Given the description of an element on the screen output the (x, y) to click on. 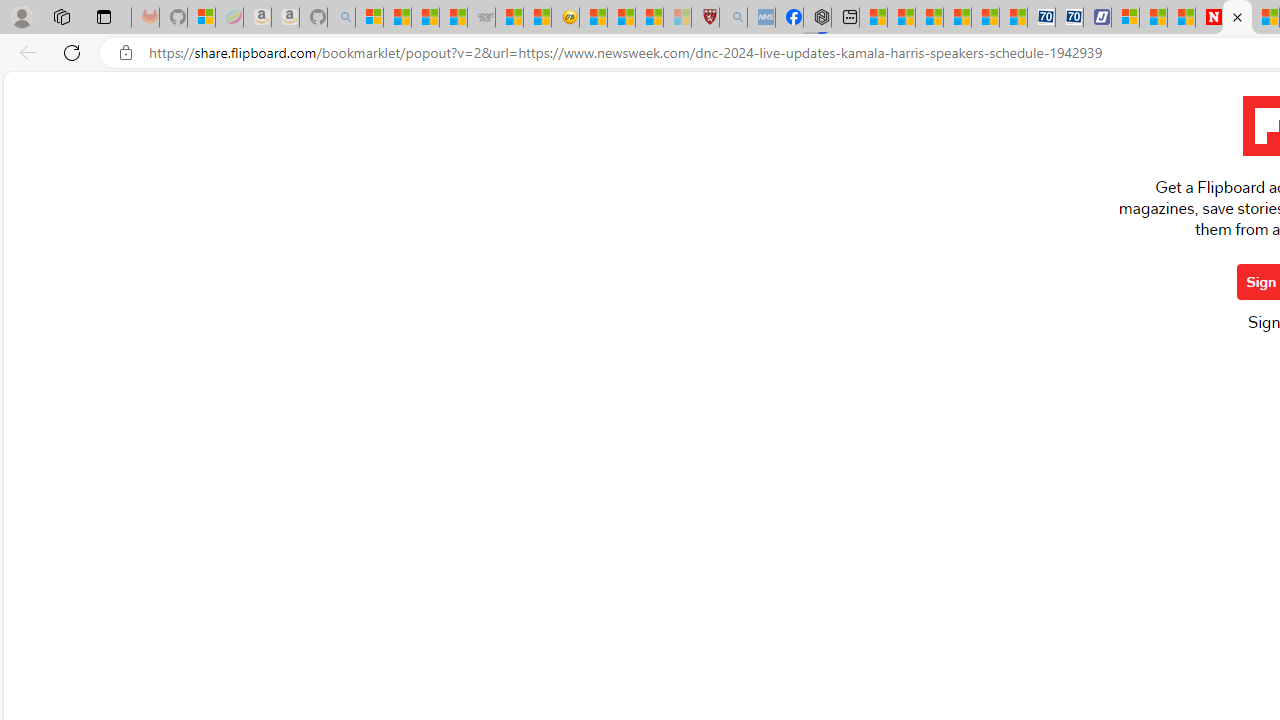
Nordace - Nordace Siena Is Not An Ordinary Backpack (816, 17)
list of asthma inhalers uk - Search - Sleeping (733, 17)
NCL Adult Asthma Inhaler Choice Guideline - Sleeping (760, 17)
Robert H. Shmerling, MD - Harvard Health (705, 17)
Science - MSN (649, 17)
Combat Siege (481, 17)
Stocks - MSN (453, 17)
Newsweek - News, Analysis, Politics, Business, Technology (1208, 17)
